Given the description of an element on the screen output the (x, y) to click on. 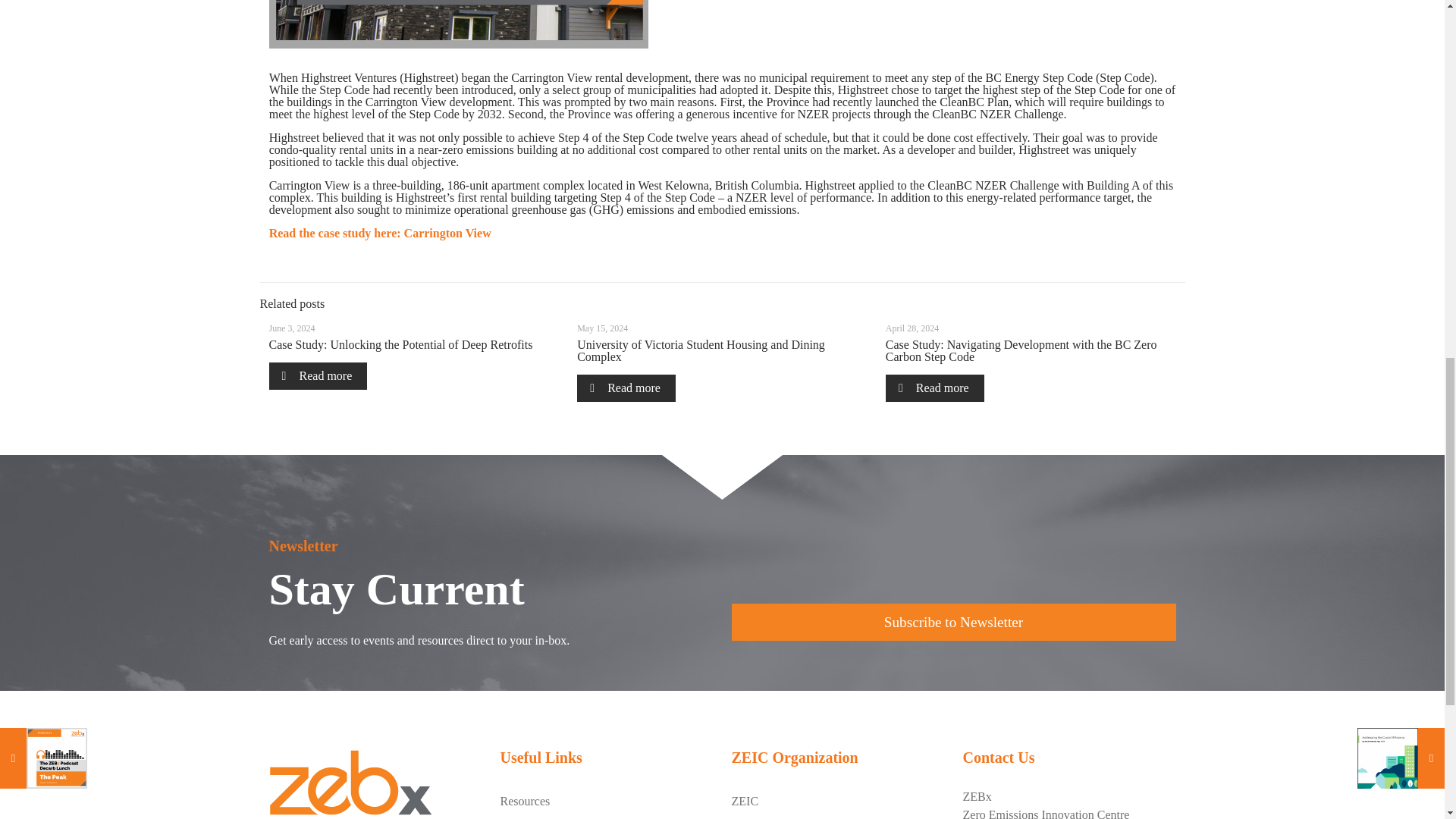
ZEBx Newsletter Subscribe (952, 621)
